Given the description of an element on the screen output the (x, y) to click on. 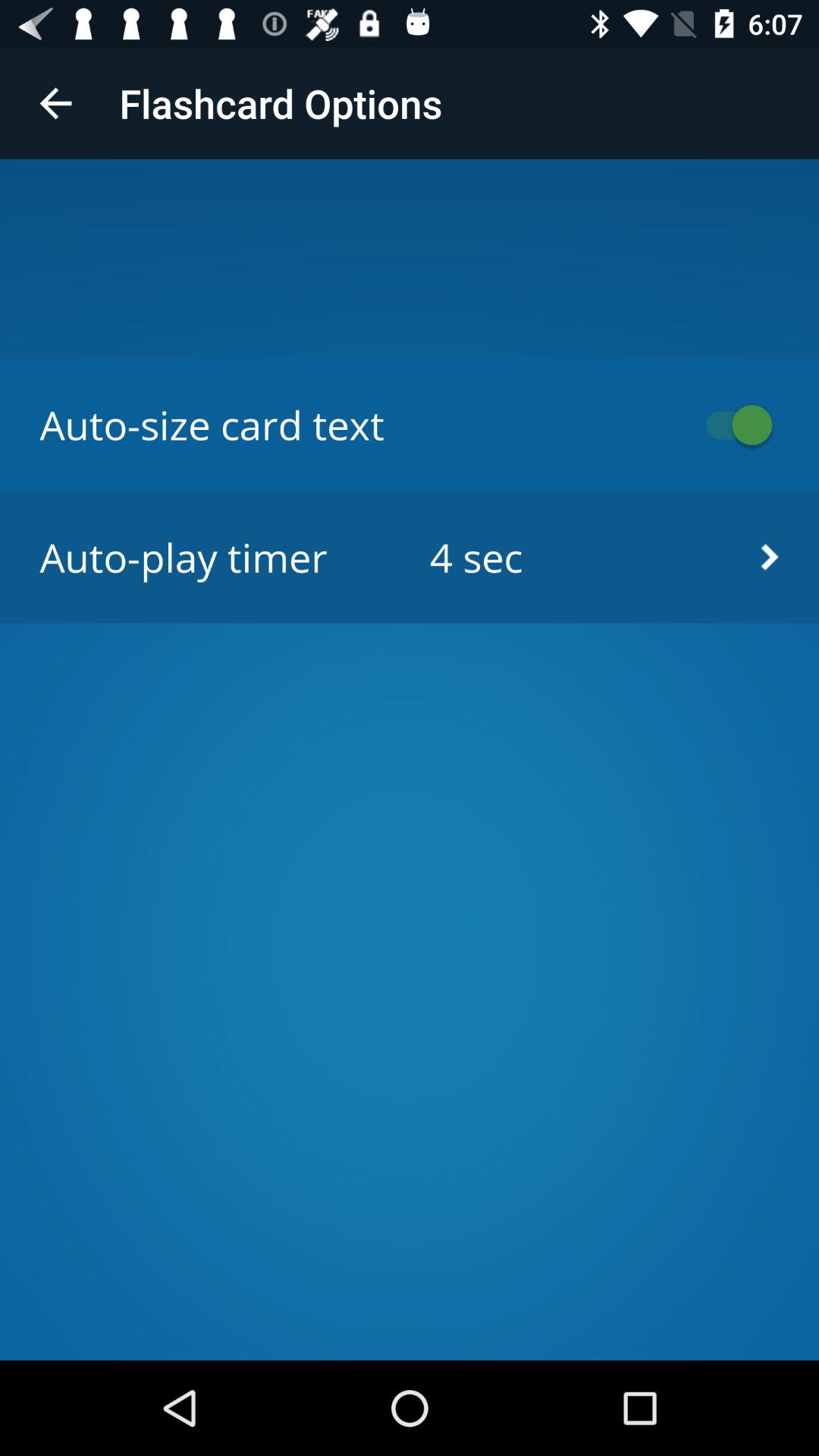
toggle auto-size card text option (731, 425)
